Given the description of an element on the screen output the (x, y) to click on. 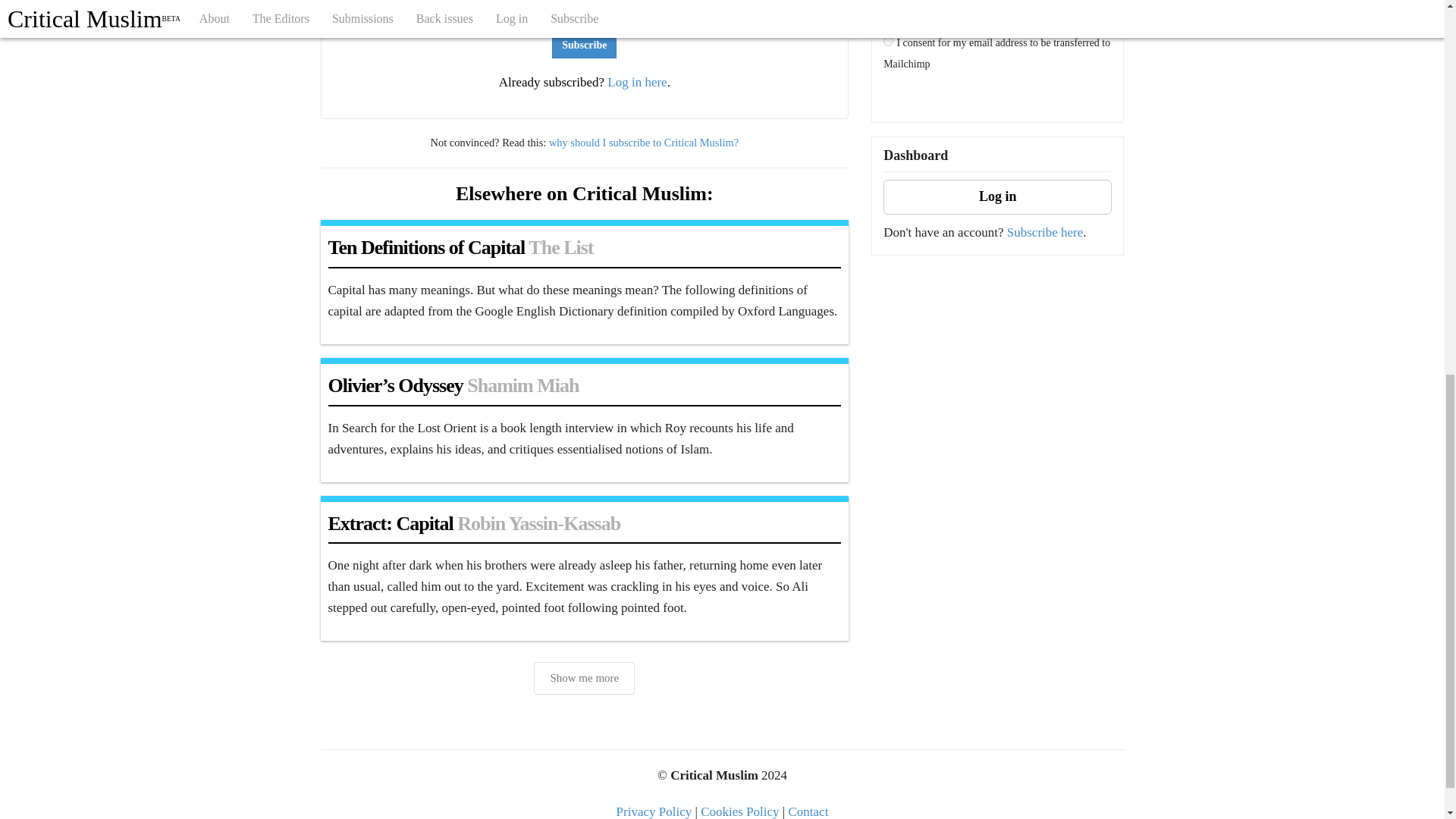
Subscribe (583, 45)
Posts by Robin Yassin-Kassab (538, 523)
Posts by The List (560, 247)
Show me more (584, 677)
Extract: Capital (389, 523)
why should I subscribe to Critical Muslim? (643, 142)
Ten Definitions of Capital (425, 247)
Shamim Miah (522, 385)
The List (560, 247)
Posts by Shamim Miah (522, 385)
Ten Definitions of Capital (425, 247)
Log in here (636, 82)
Extract: Capital (389, 523)
Robin Yassin-Kassab (538, 523)
